Given the description of an element on the screen output the (x, y) to click on. 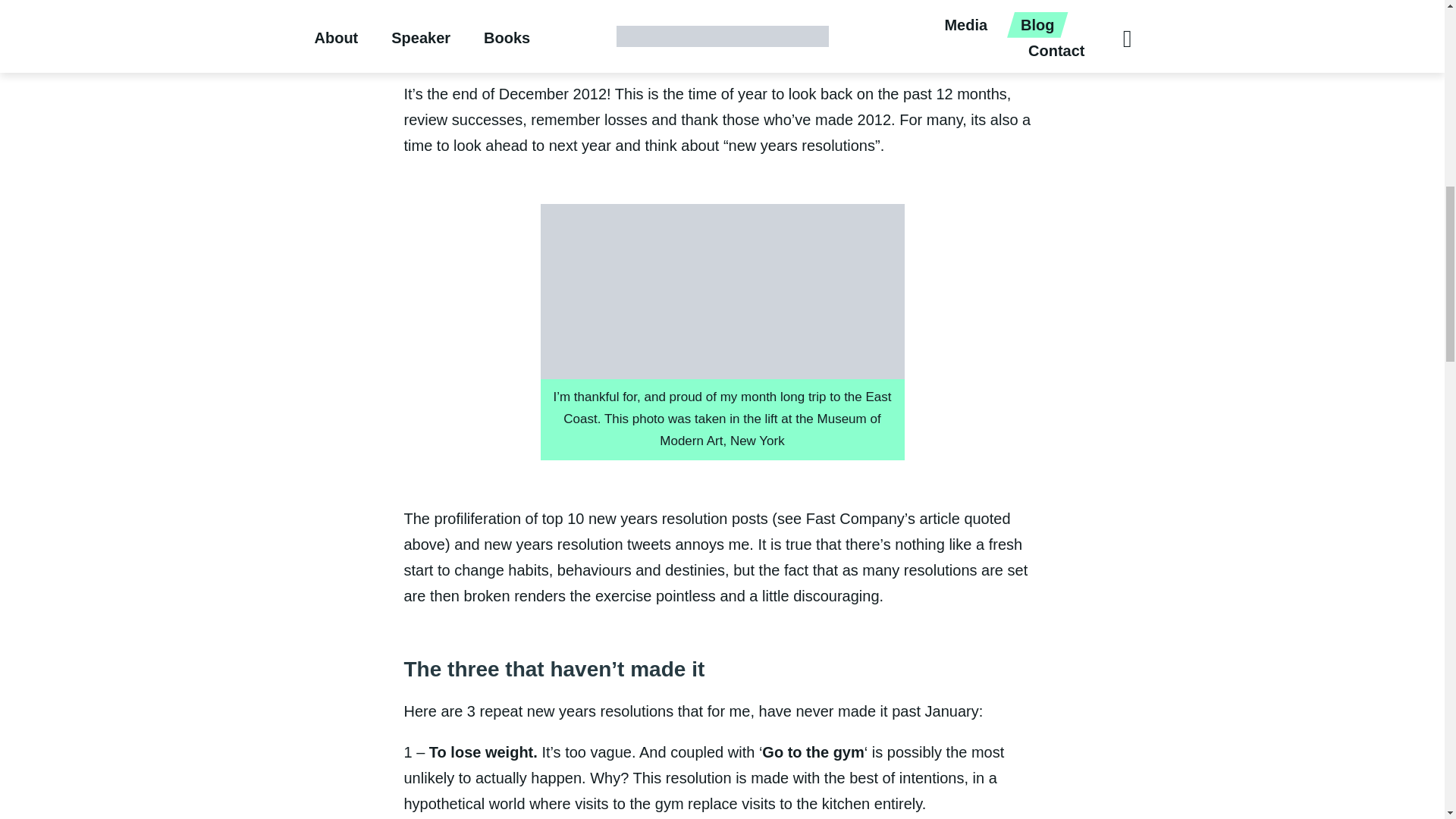
10 Resolutions to make 2013 your best year ever article (709, 34)
Fast Company's resolutions article (709, 34)
